Given the description of an element on the screen output the (x, y) to click on. 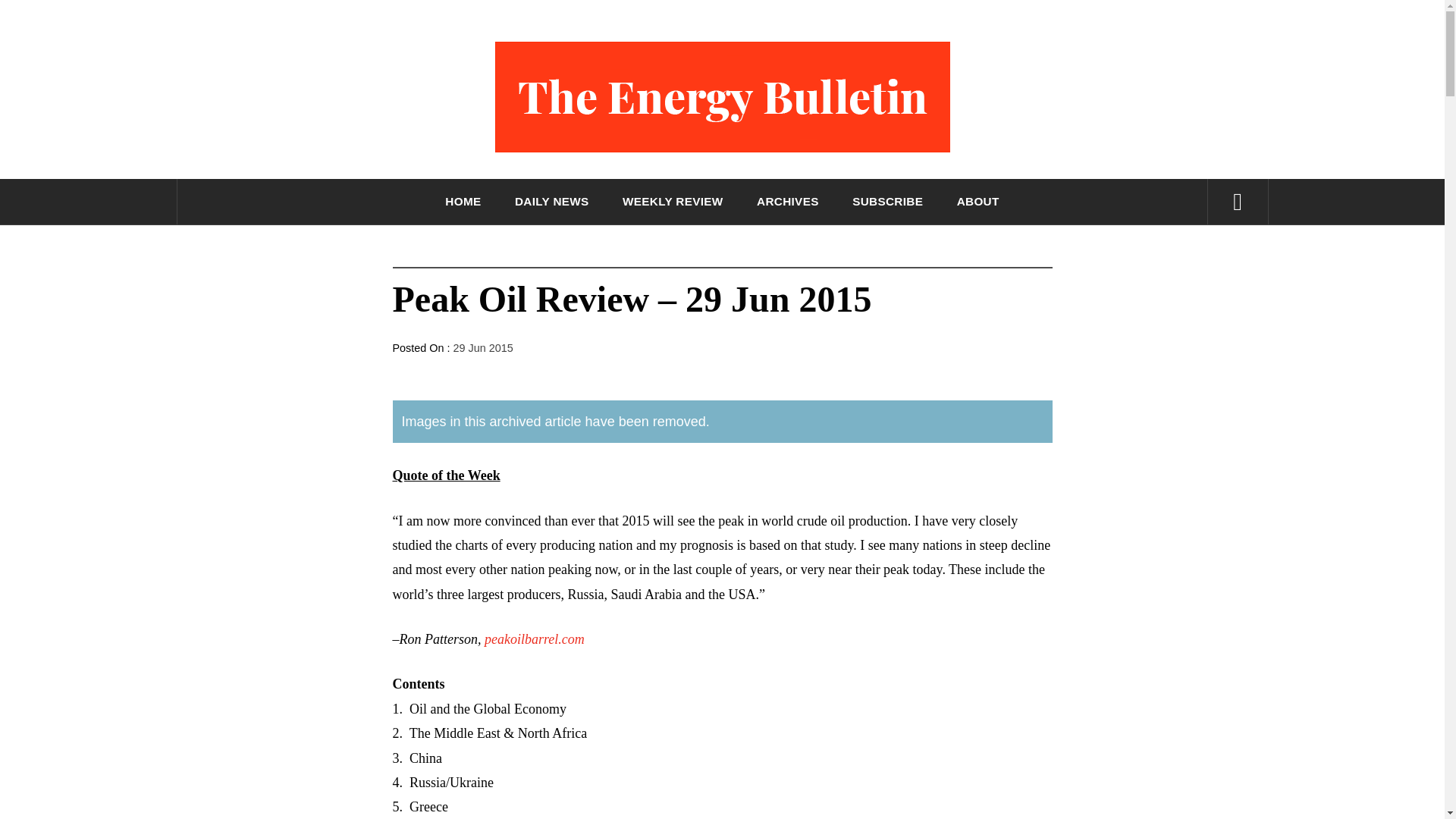
THE ENERGY BULLETIN (721, 197)
WEEKLY REVIEW (672, 201)
peakoilbarrel.com (534, 639)
ARCHIVES (788, 201)
SUBSCRIBE (887, 201)
HOME (462, 201)
29 Jun 2015 (482, 347)
DAILY NEWS (551, 201)
ABOUT (978, 201)
Search (797, 37)
